Given the description of an element on the screen output the (x, y) to click on. 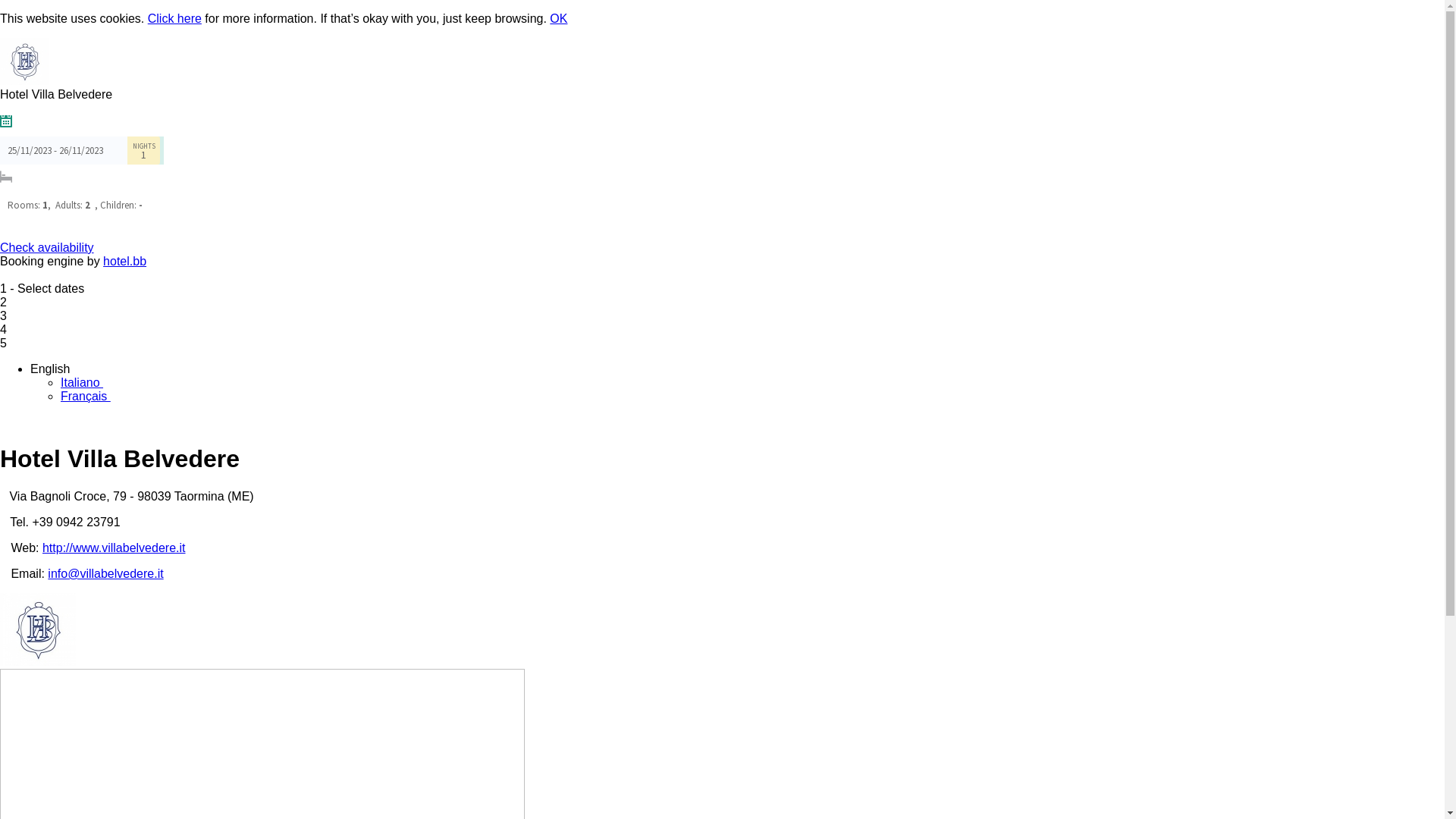
Via Bagnoli Croce, 79  -  98039 Taormina (ME) Element type: hover (36, 108)
Italiano Element type: text (87, 382)
OK Element type: text (558, 18)
Click here Element type: text (174, 18)
Check availability Element type: text (47, 247)
Tel. +39 0942 23791 Element type: hover (3, 108)
hotel.bb Element type: text (124, 260)
info@villabelvedere.it Element type: hover (25, 107)
info@villabelvedere.it Element type: text (105, 573)
http://www.villabelvedere.it Element type: hover (14, 107)
http://www.villabelvedere.it Element type: text (113, 547)
